Given the description of an element on the screen output the (x, y) to click on. 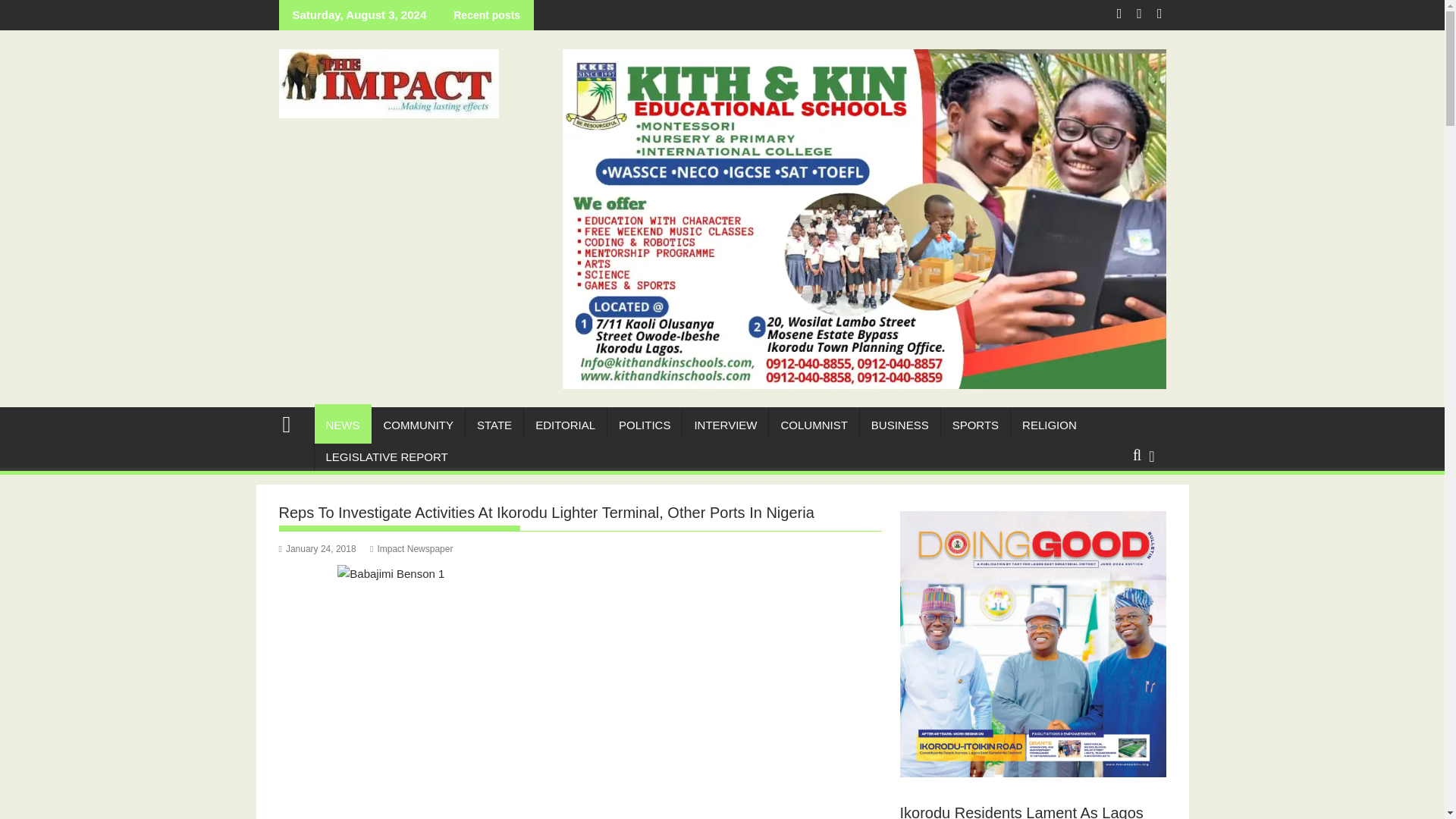
POLITICS (644, 425)
NEWS (342, 425)
COLUMNIST (813, 425)
BUSINESS (900, 425)
RELIGION (1048, 425)
Impact Newspaper (410, 548)
EDITORIAL (565, 425)
INTERVIEW (725, 425)
COMMUNITY (417, 425)
SPORTS (975, 425)
LEGISLATIVE REPORT (386, 456)
STATE (493, 425)
January 24, 2018 (317, 548)
